Given the description of an element on the screen output the (x, y) to click on. 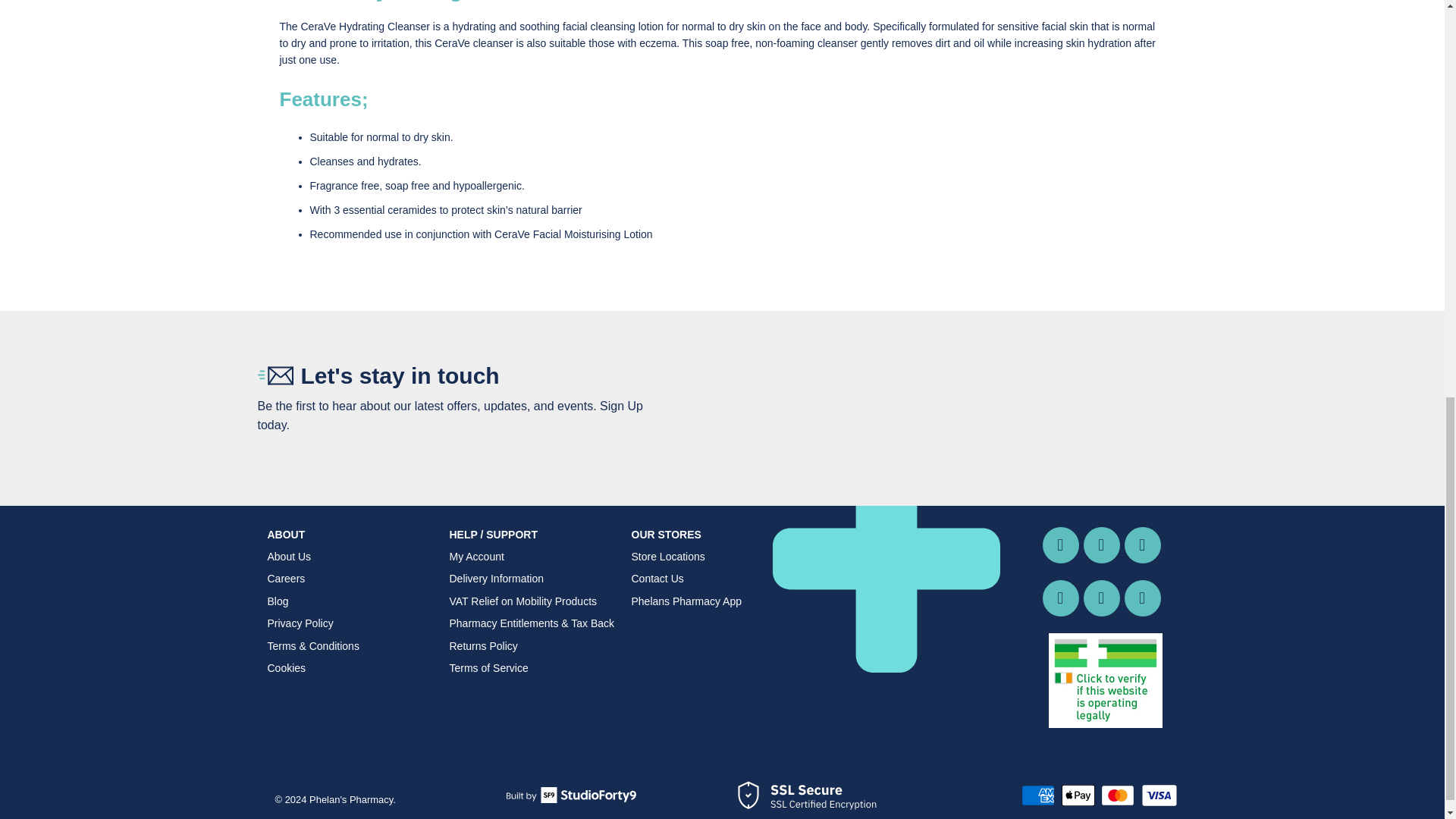
Phelan's Pharmacy on Facebook (1101, 545)
American Express (1040, 794)
Phelan's Pharmacy on Twitter (1060, 545)
Phelan's Pharmacy on YouTube (1142, 545)
Email Phelan's Pharmacy (1142, 597)
Visa (1158, 794)
Phelan's Pharmacy on LinkedIn (1101, 597)
Apple Pay (1079, 794)
Mastercard (1118, 794)
Phelan's Pharmacy on Instagram (1060, 597)
